Given the description of an element on the screen output the (x, y) to click on. 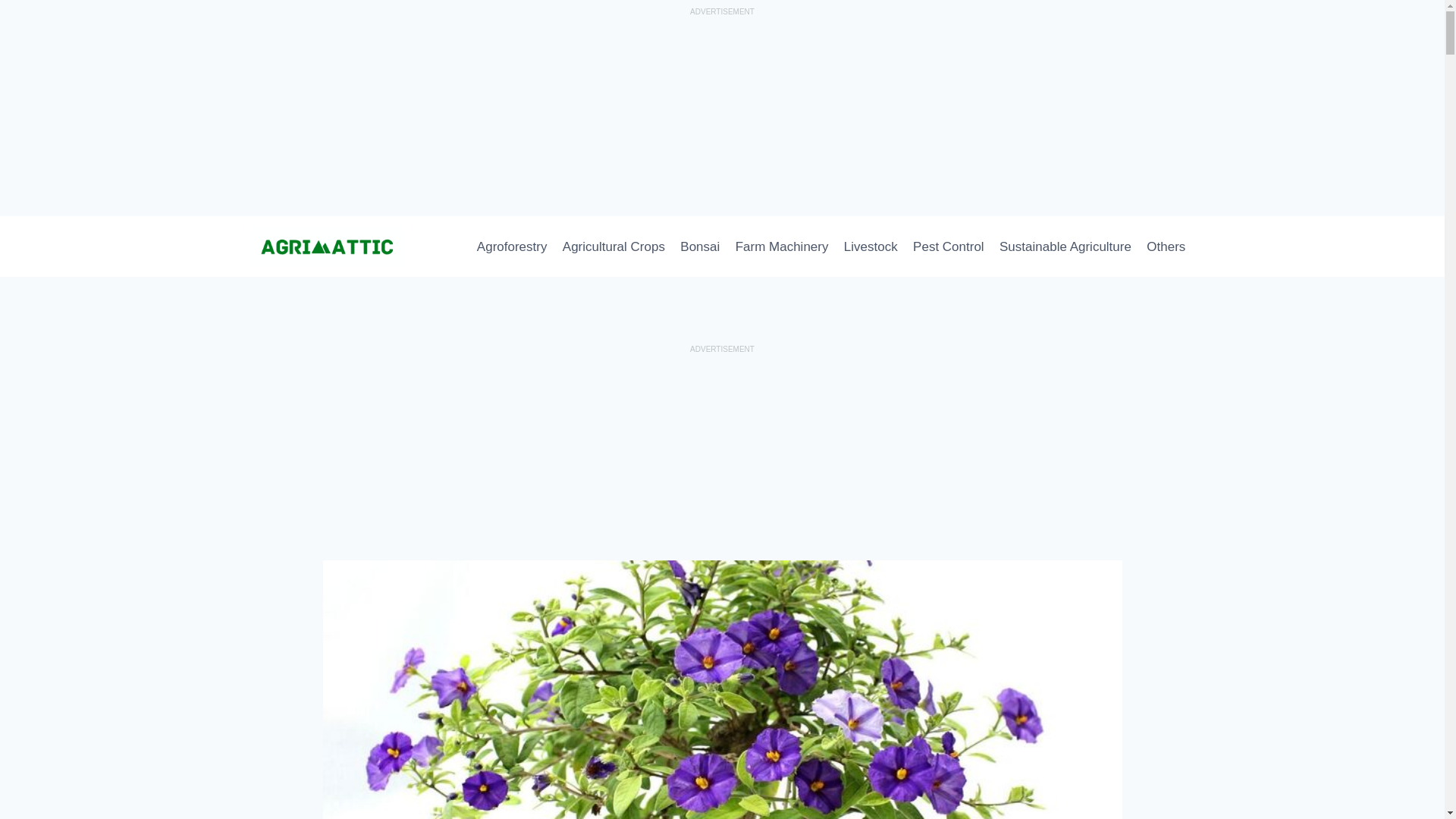
Sustainable Agriculture (1064, 247)
Bonsai (699, 247)
Advertisement (721, 452)
Agricultural Crops (613, 247)
Livestock (870, 247)
Others (1165, 247)
Farm Machinery (780, 247)
Advertisement (721, 114)
Pest Control (948, 247)
Agroforestry (511, 247)
